Given the description of an element on the screen output the (x, y) to click on. 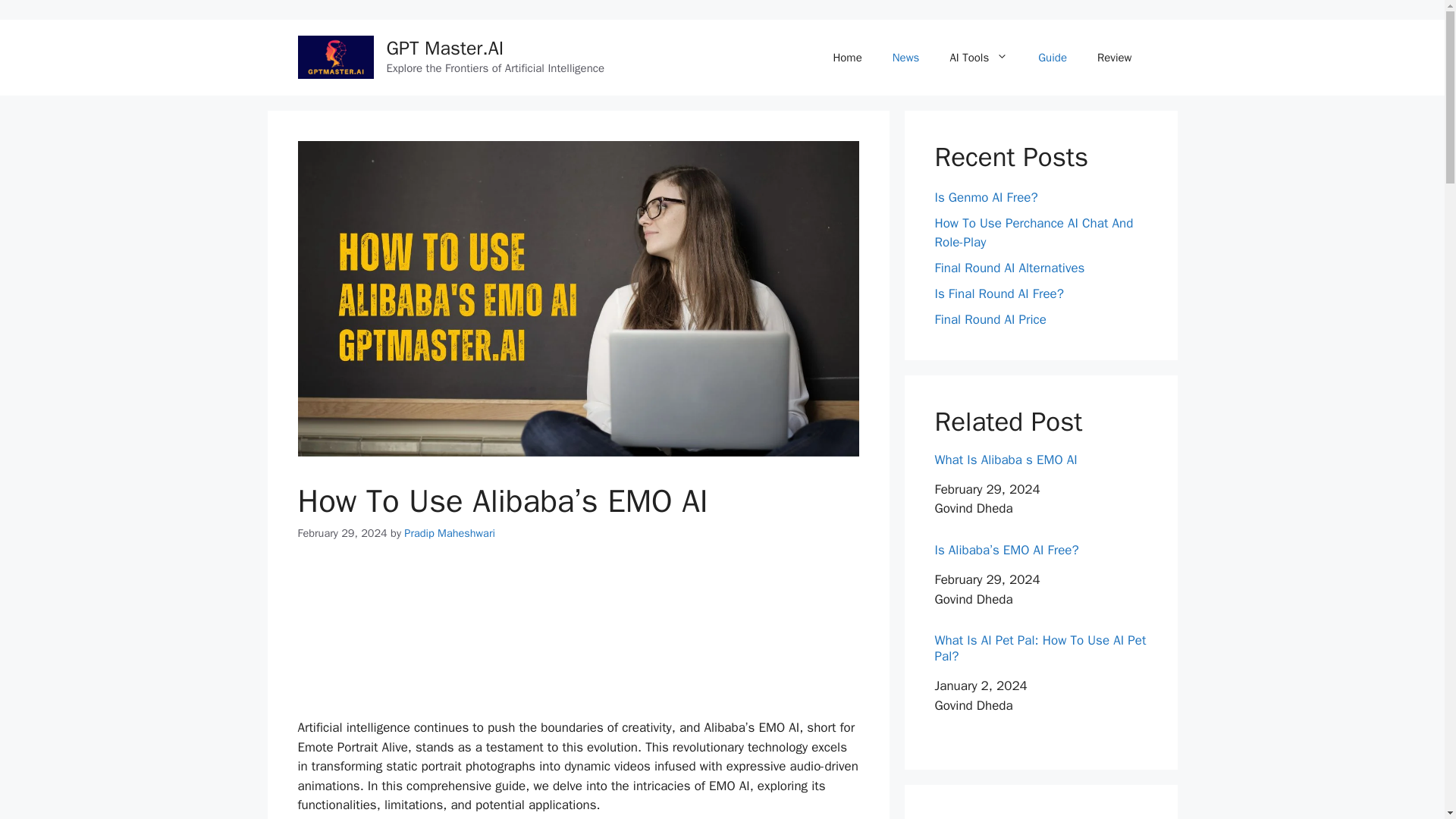
Review (1114, 57)
AI Tools (978, 57)
Home (846, 57)
Final Round AI Alternatives (1009, 268)
Pradip Maheshwari (449, 532)
Is Genmo AI Free? (985, 197)
GPT Master.AI (445, 47)
View all posts by Pradip Maheshwari (449, 532)
How To Use Perchance AI Chat And Role-Play (1033, 232)
News (905, 57)
Advertisement (578, 639)
Guide (1052, 57)
